Given the description of an element on the screen output the (x, y) to click on. 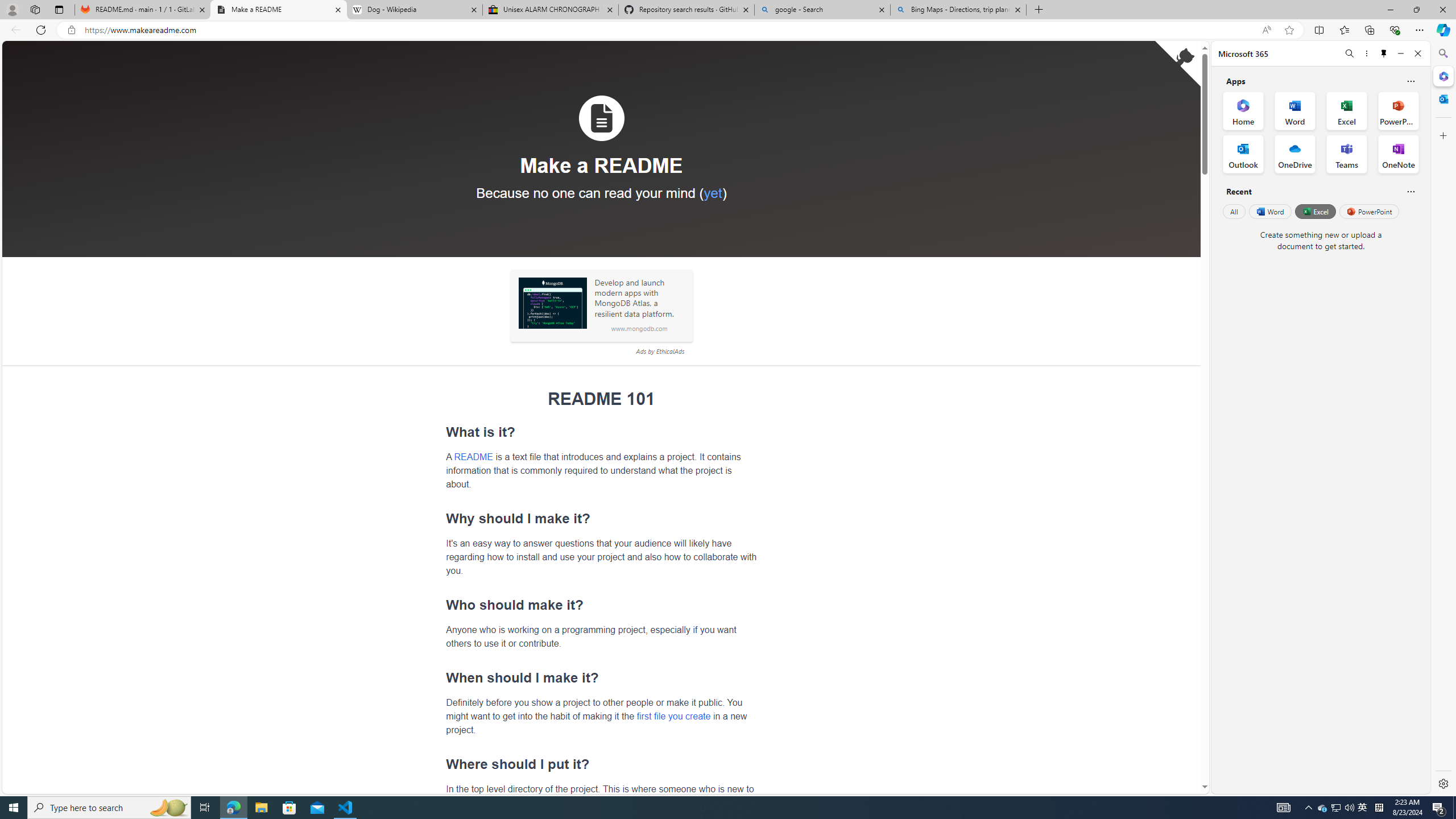
PowerPoint (1369, 210)
Is this helpful? (1410, 191)
OneNote Office App (1398, 154)
Sponsored: MongoDB (552, 302)
Word (1269, 210)
Excel (1315, 210)
